Given the description of an element on the screen output the (x, y) to click on. 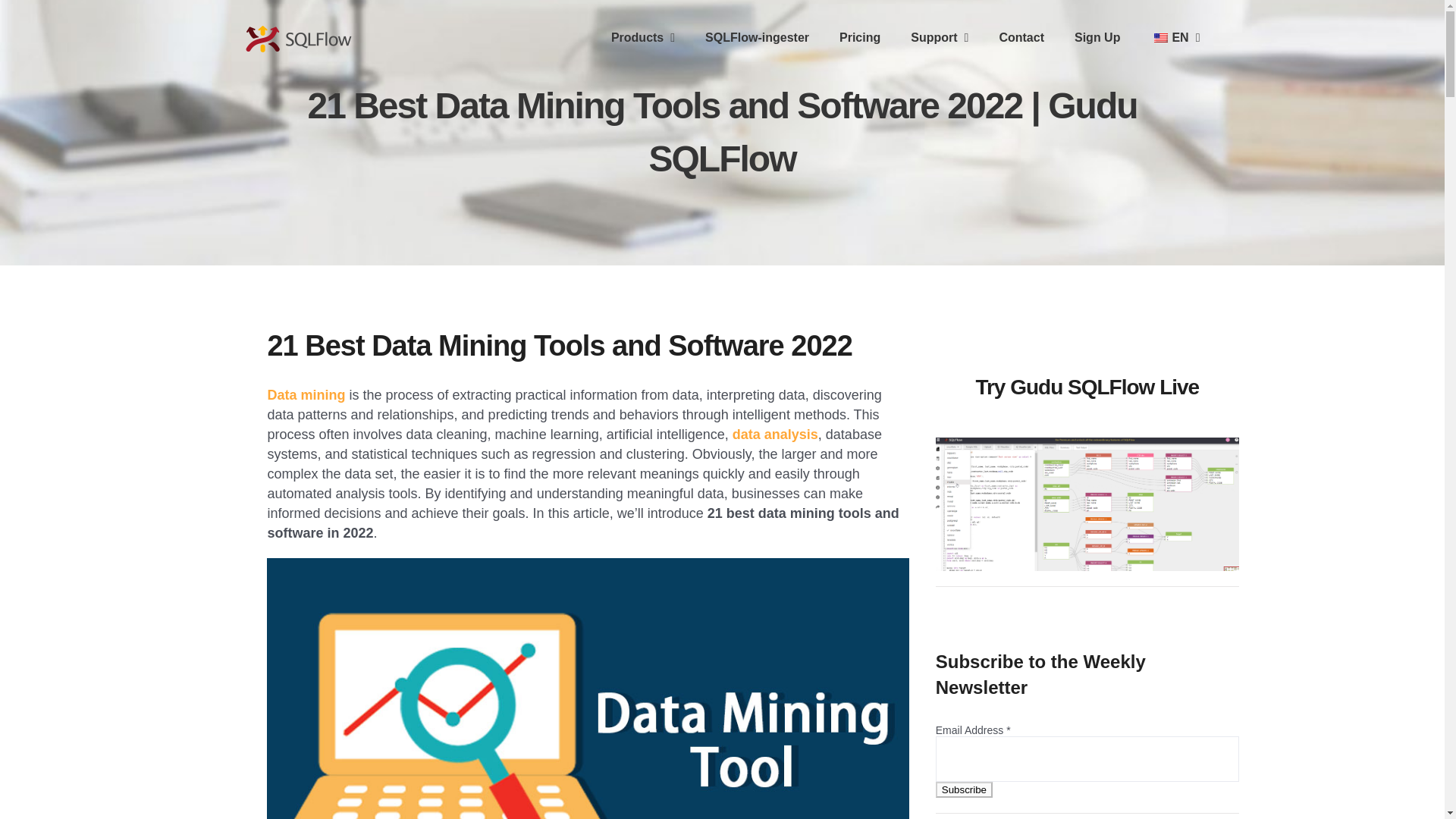
Subscribe (964, 789)
SQLFlow-ingester (756, 38)
English (1160, 37)
